Given the description of an element on the screen output the (x, y) to click on. 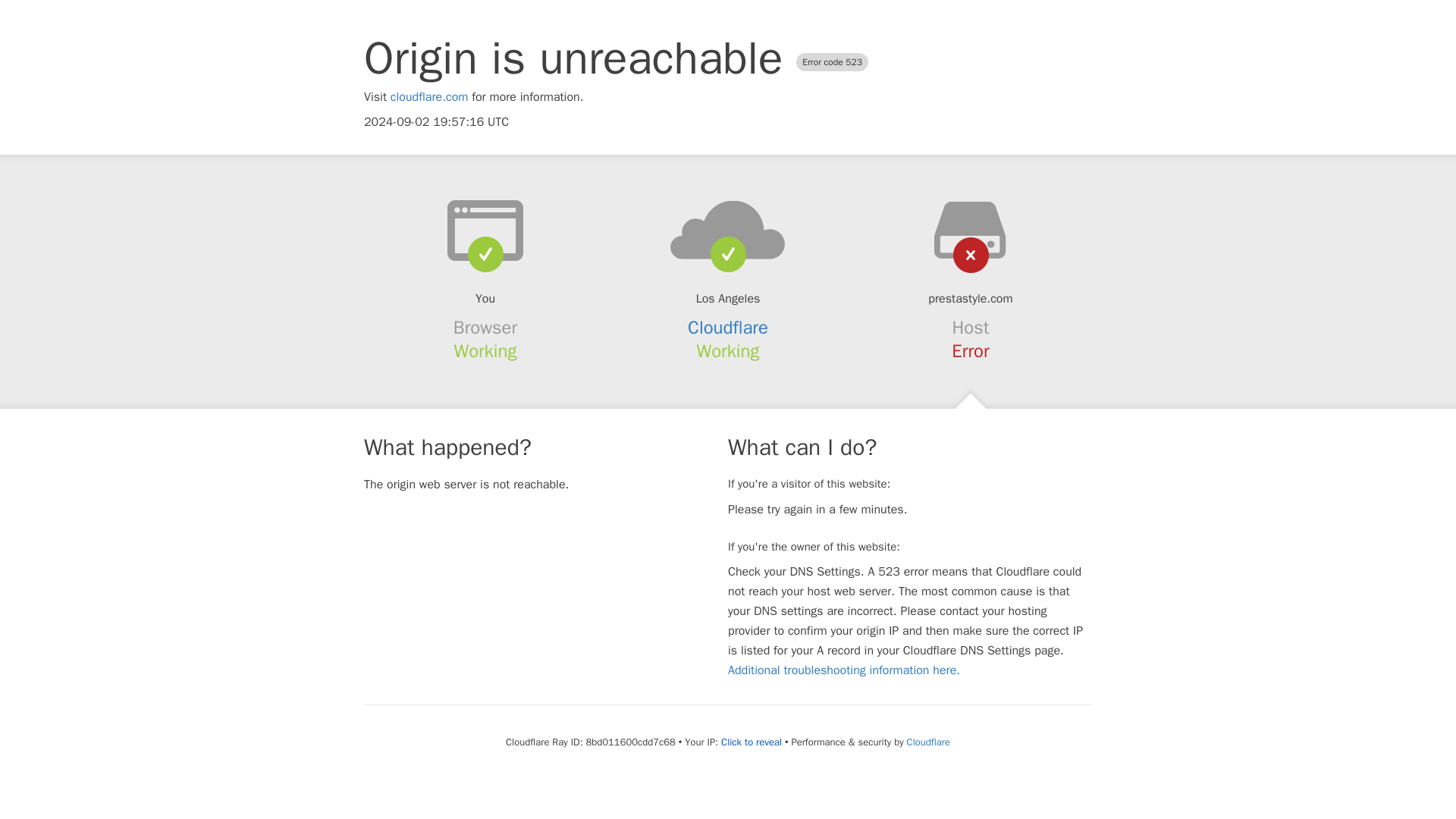
cloudflare.com (429, 96)
Additional troubleshooting information here. (843, 670)
Click to reveal (750, 742)
Cloudflare (928, 741)
Cloudflare (727, 327)
